Given the description of an element on the screen output the (x, y) to click on. 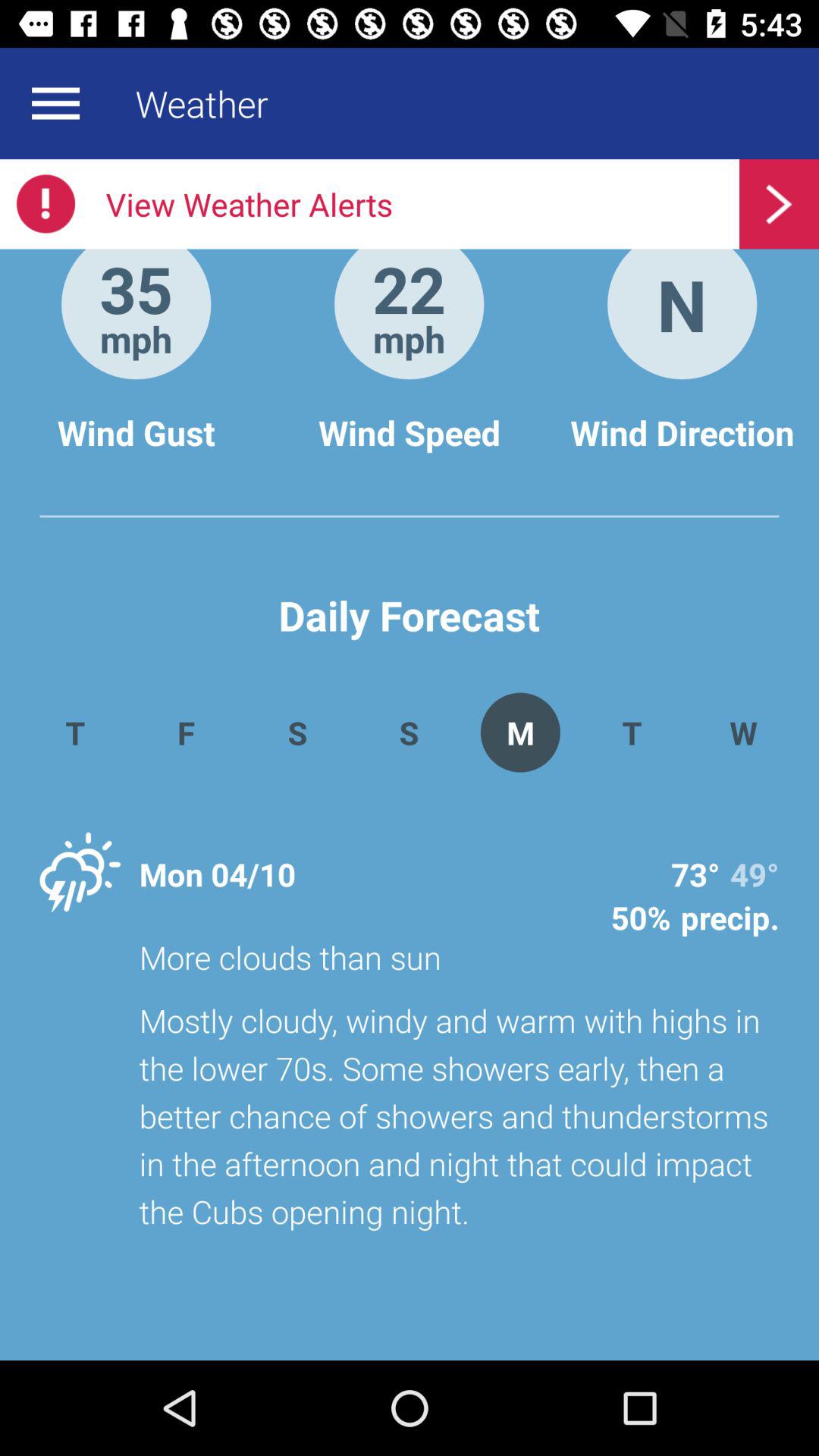
menu (55, 103)
